Given the description of an element on the screen output the (x, y) to click on. 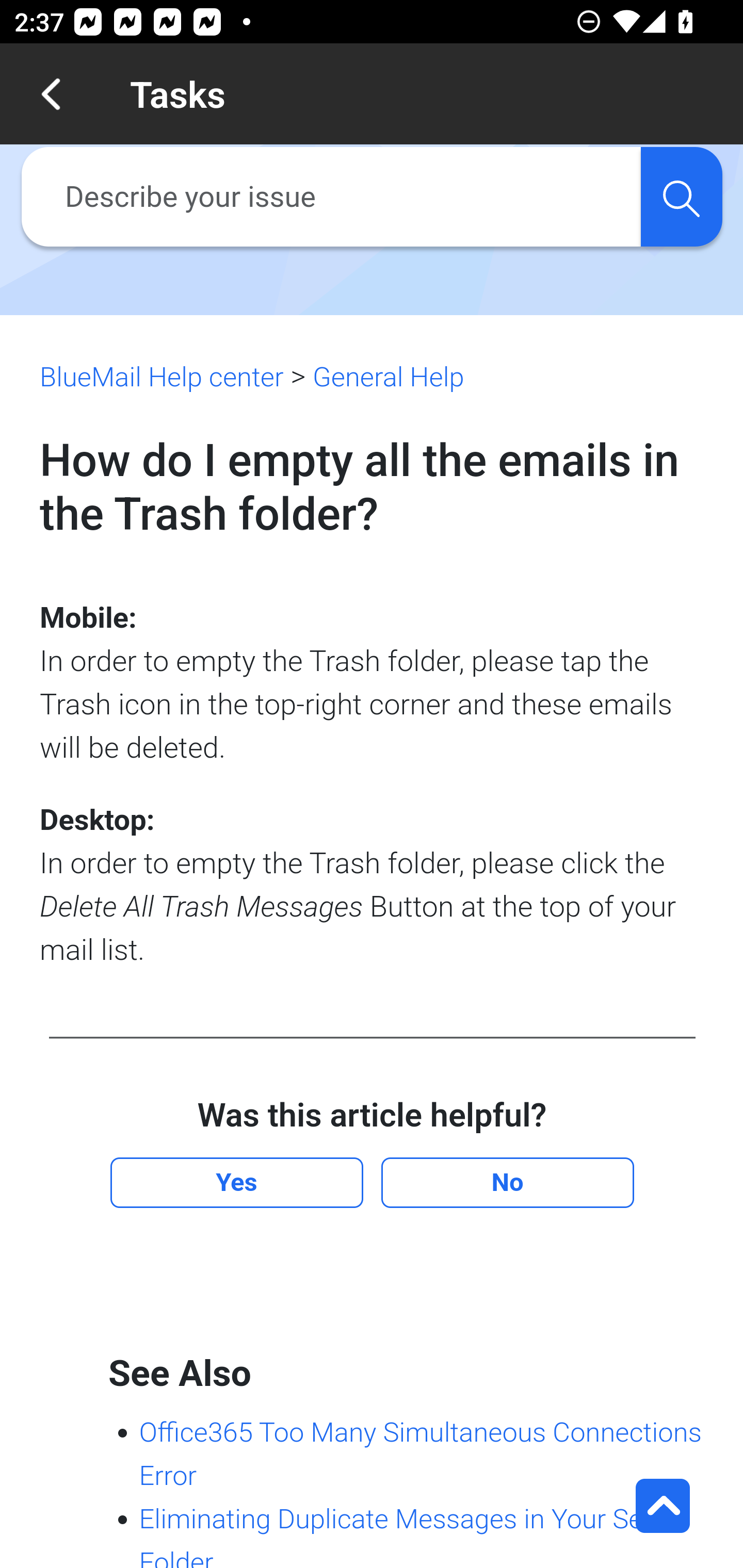
Navigate up (50, 93)
search (680, 196)
BlueMail Help center BlueMail  Help center (162, 376)
General Help (387, 376)
Yes (236, 1182)
No (507, 1182)
Office365 Too Many Simultaneous Connections Error (419, 1453)
Eliminating Duplicate Messages in Your Sent Folder (402, 1535)
